Given the description of an element on the screen output the (x, y) to click on. 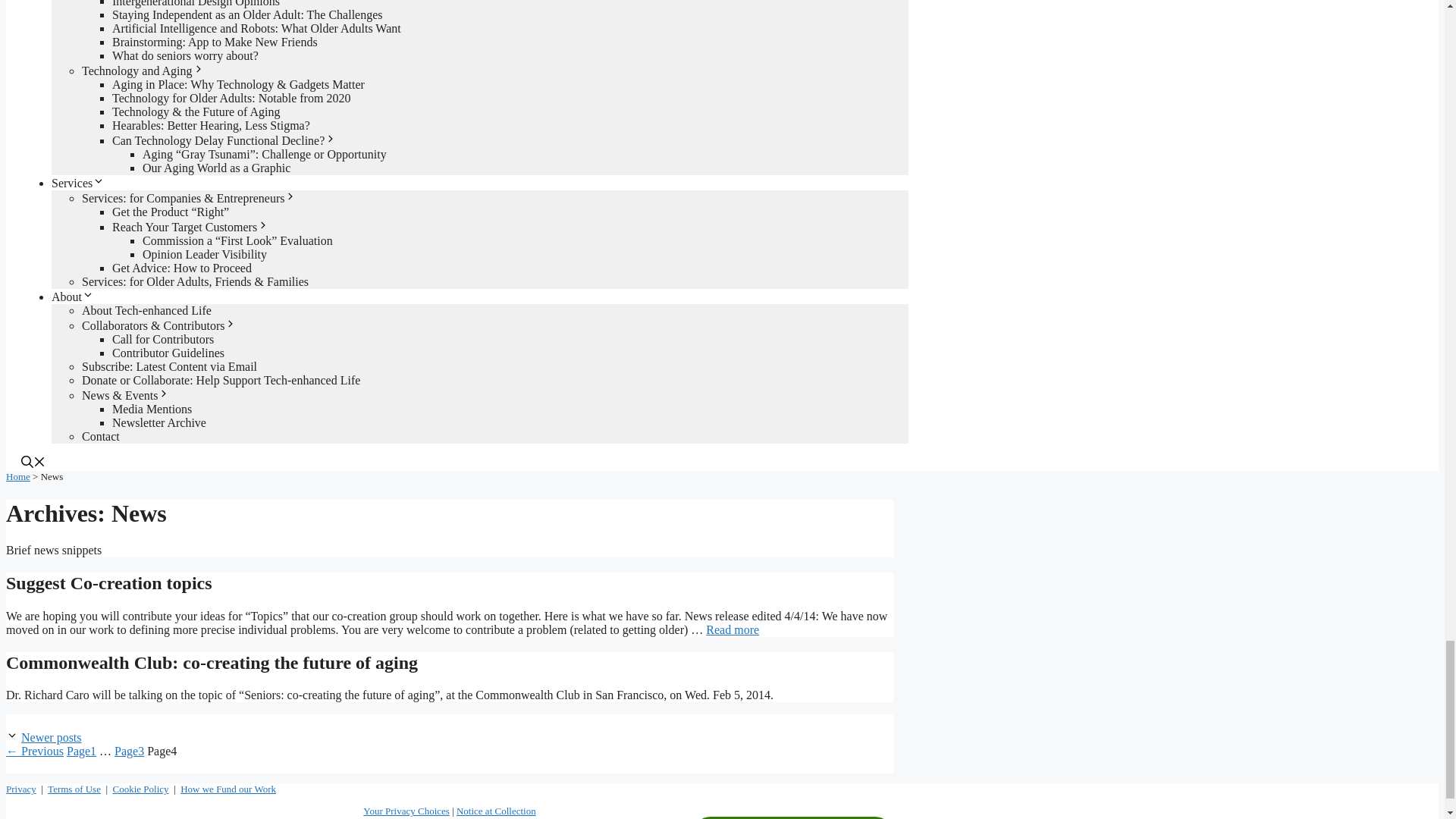
Suggest Co-creation topics (732, 629)
Go to Tech-enhanced Life. (17, 476)
Next (51, 737)
